Given the description of an element on the screen output the (x, y) to click on. 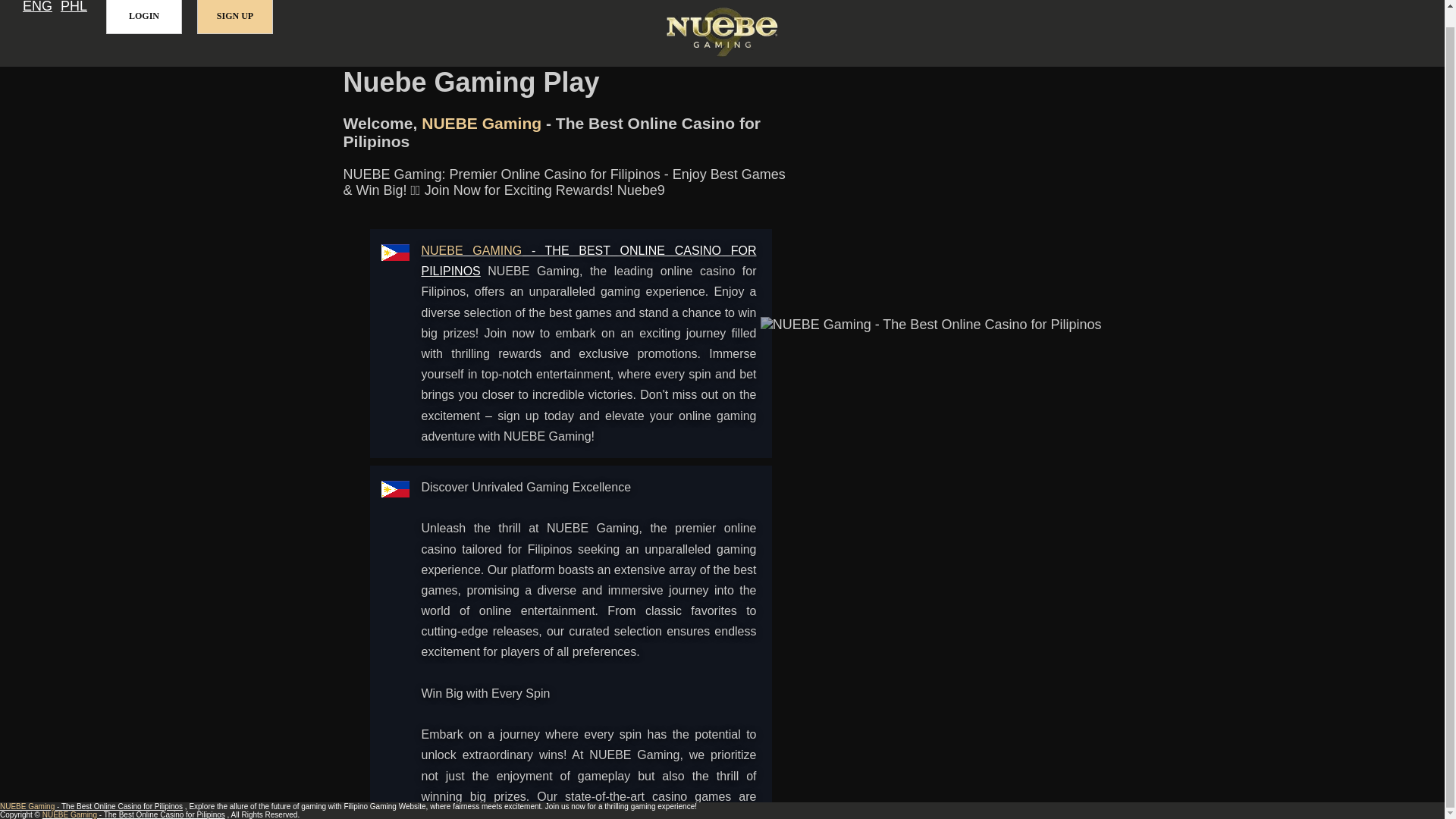
English (37, 7)
PHL (74, 7)
NUEBE Gaming - The Best Online Casino for Pilipinos (91, 806)
SIGN UP (234, 17)
Filipino (74, 7)
LOGIN (144, 17)
NUEBE Gaming - The Best Online Casino for Pilipinos Logo (721, 33)
NUEBE Gaming - The Best Online Casino for Pilipinos (589, 260)
NUEBE GAMING - THE BEST ONLINE CASINO FOR PILIPINOS (589, 260)
ENG (37, 7)
